Given the description of an element on the screen output the (x, y) to click on. 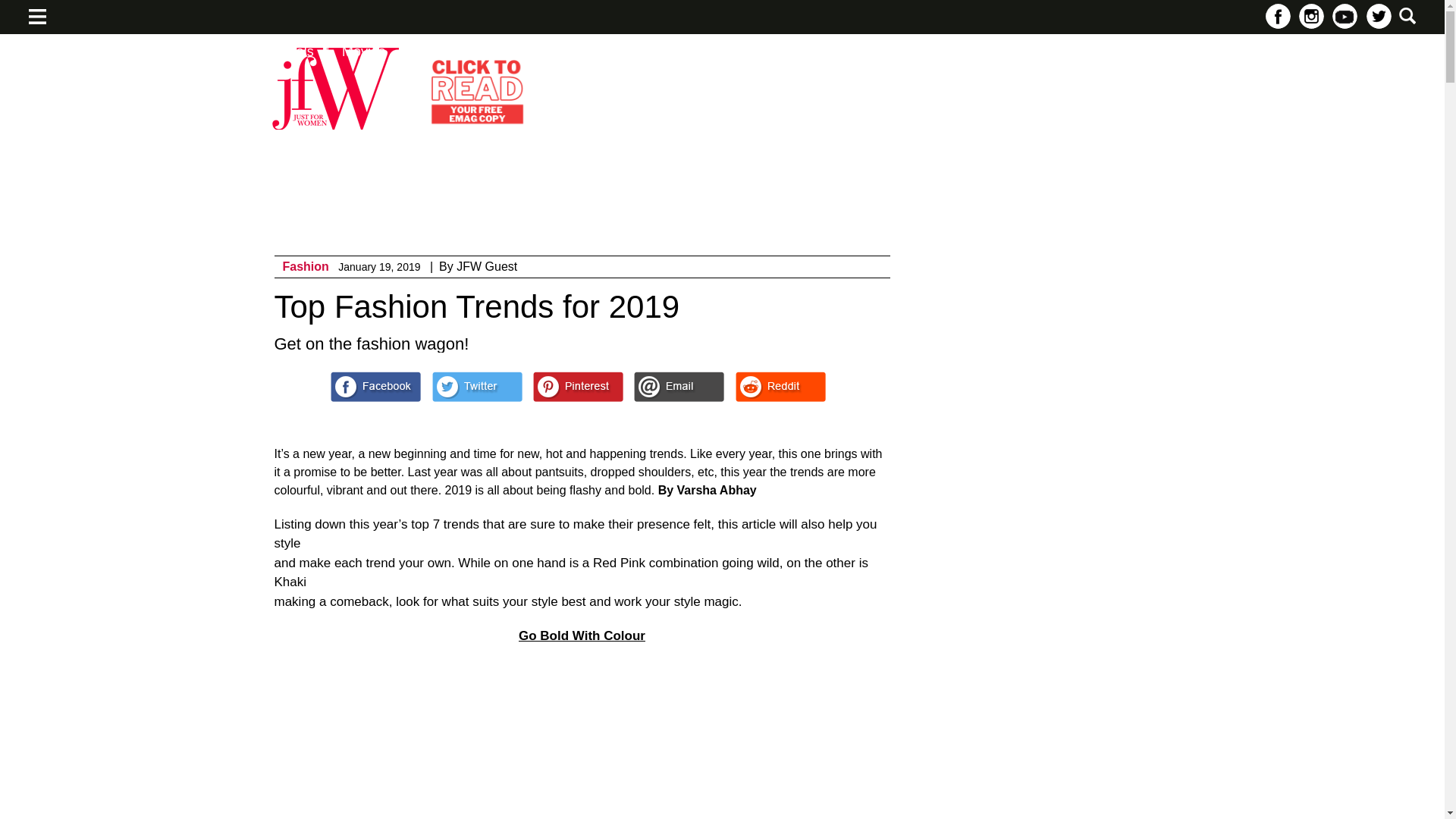
JFW Originals (271, 52)
Fashion (76, 52)
Movies (363, 52)
Fashion (305, 266)
Fashion (305, 266)
People (565, 52)
Share with Friend (678, 386)
JFW Events (166, 52)
